Given the description of an element on the screen output the (x, y) to click on. 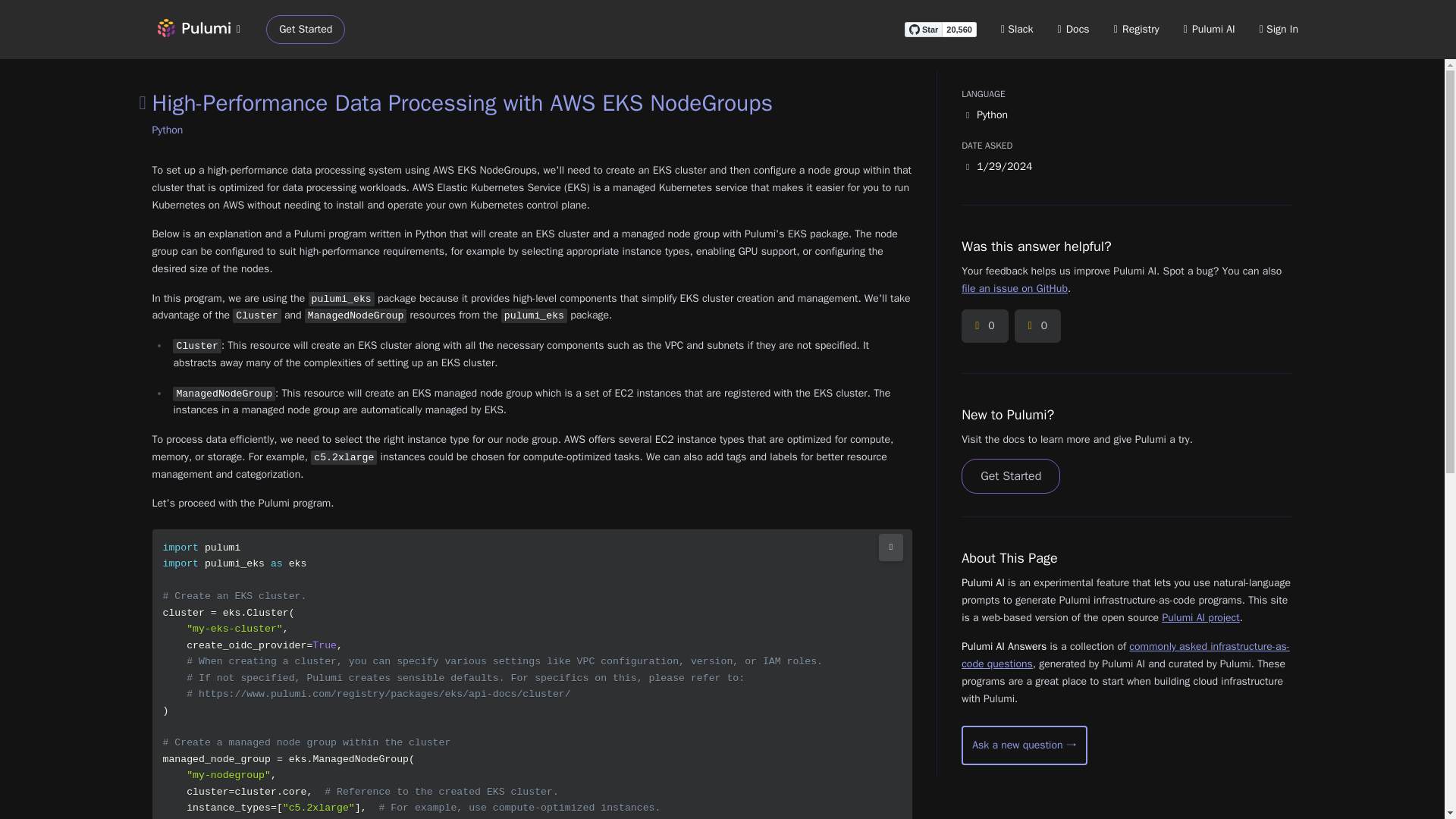
Registry (1135, 29)
Get Started (305, 29)
Slack (1017, 29)
Start a new conversation with Pulumi AI (1023, 744)
0 (1037, 326)
Docs (1073, 29)
Downvote this answer (1037, 326)
Upvote this answer (984, 326)
0 (984, 326)
20,560 (959, 29)
Sign In (1278, 29)
Pulumi AI (1208, 29)
 Star (923, 29)
Get Started (1009, 475)
file an issue on GitHub (1013, 287)
